Given the description of an element on the screen output the (x, y) to click on. 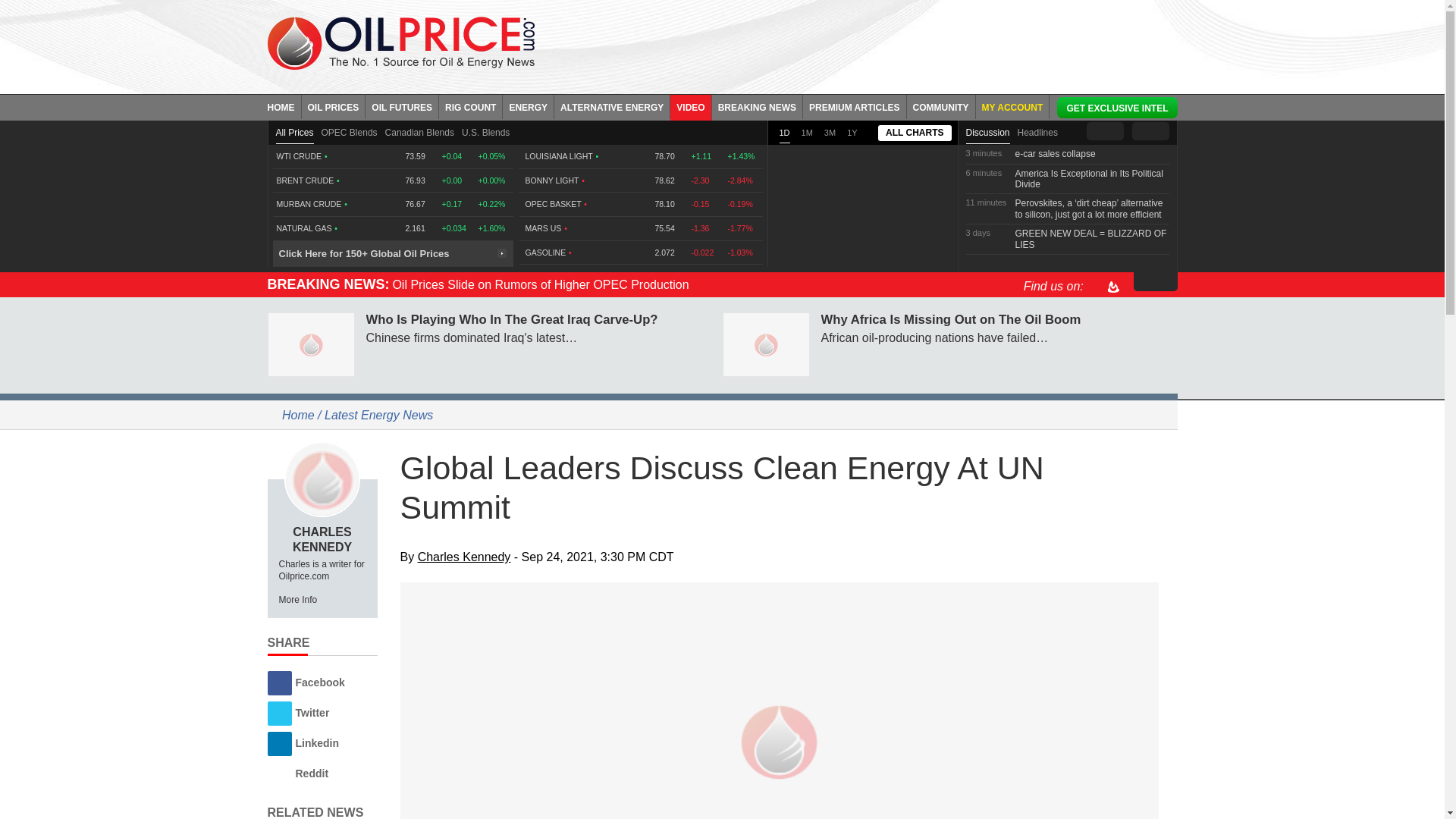
MY ACCOUNT (1012, 106)
PREMIUM ARTICLES (855, 106)
ALTERNATIVE ENERGY (611, 106)
HOME (283, 106)
RIG COUNT (470, 106)
Oil prices - Oilprice.com (400, 42)
OIL FUTURES (402, 106)
VIDEO (690, 106)
ENERGY (528, 106)
COMMUNITY (941, 106)
